Given the description of an element on the screen output the (x, y) to click on. 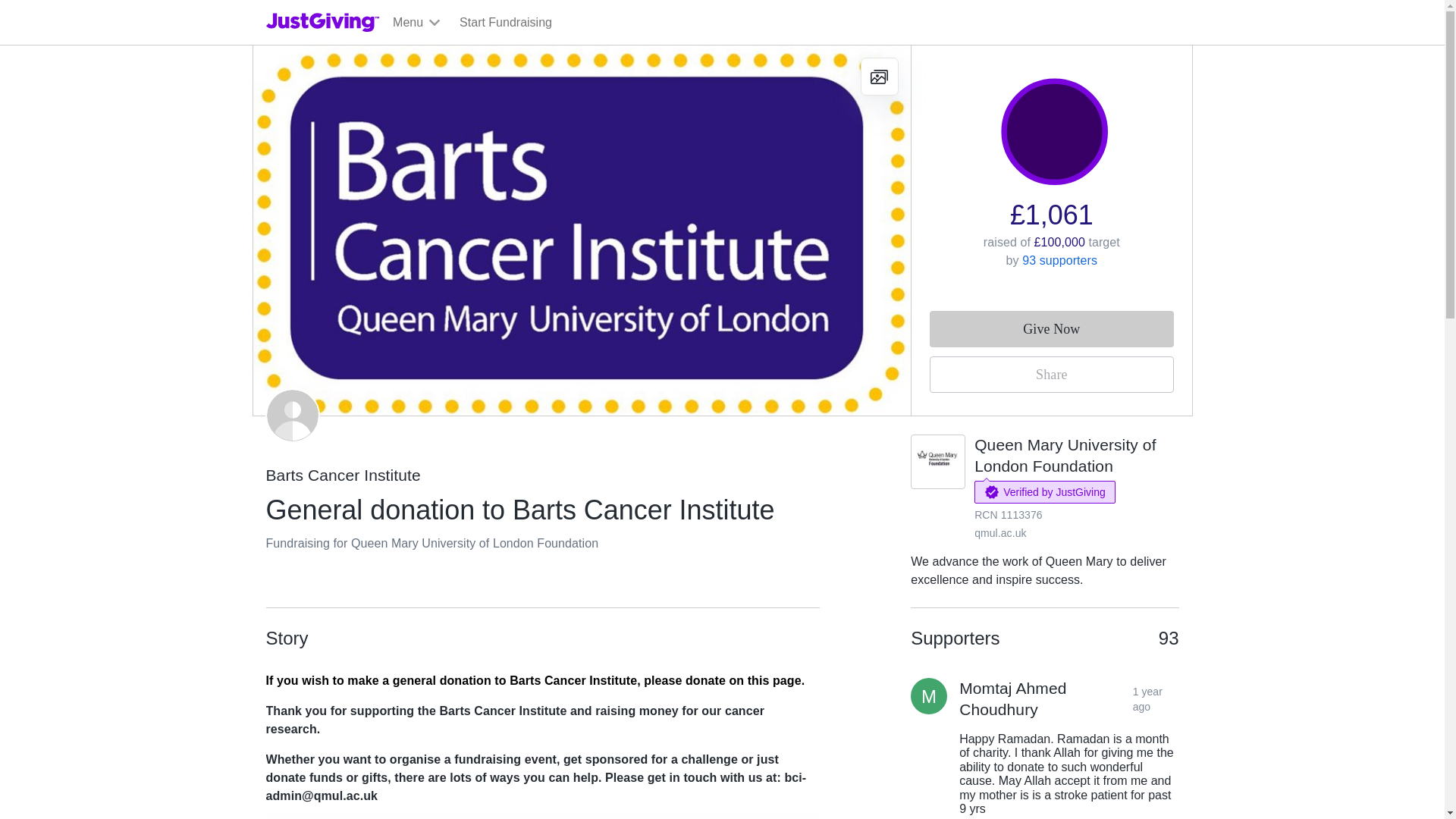
M (929, 696)
Queen Mary University of London Foundation (1065, 455)
Menu (416, 22)
qmul.ac.uk (1000, 532)
Start Fundraising (505, 22)
Search (919, 57)
Share (1051, 374)
93 supporters (1059, 259)
